Given the description of an element on the screen output the (x, y) to click on. 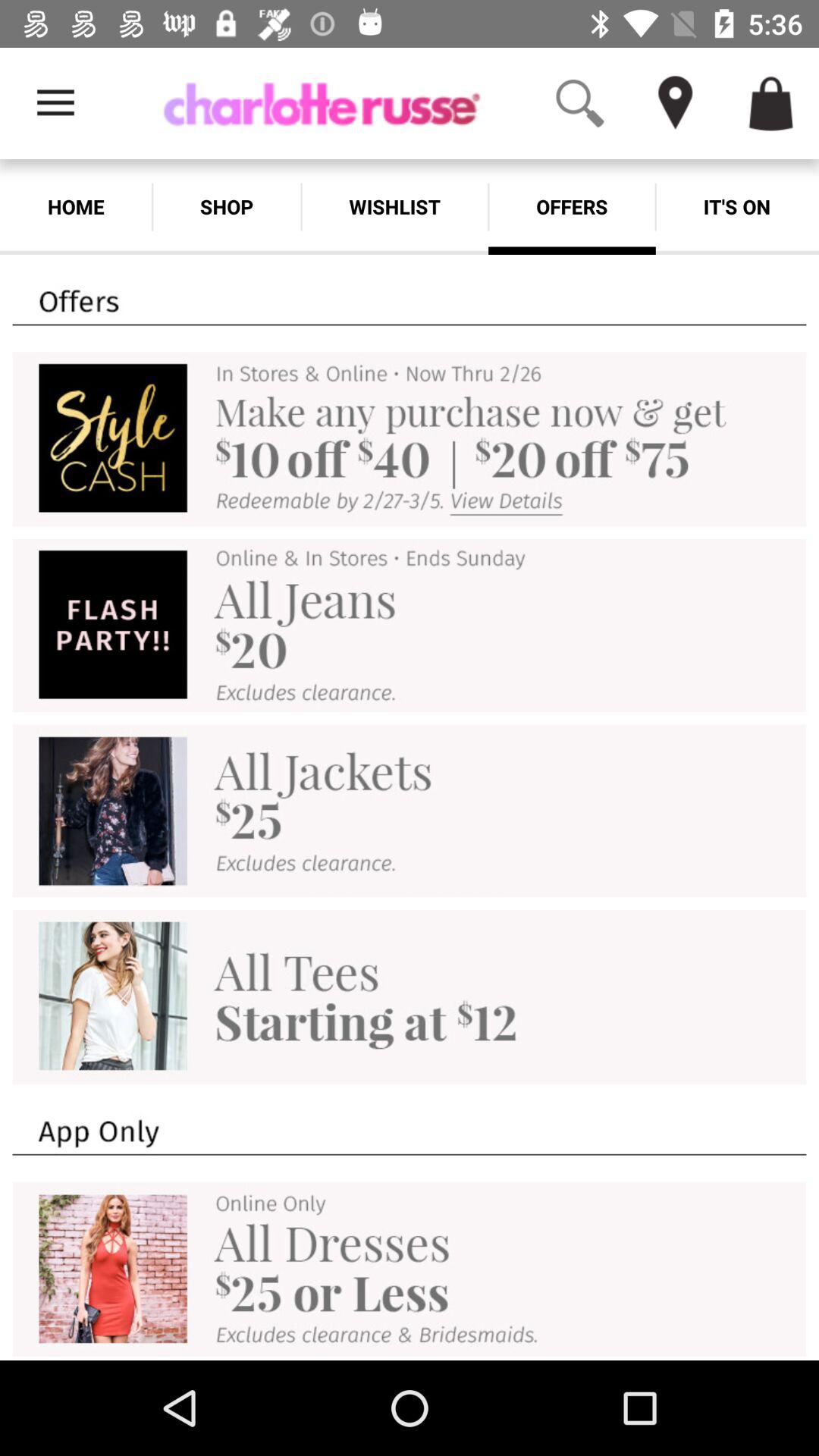
press icon next to the wishlist (226, 206)
